Given the description of an element on the screen output the (x, y) to click on. 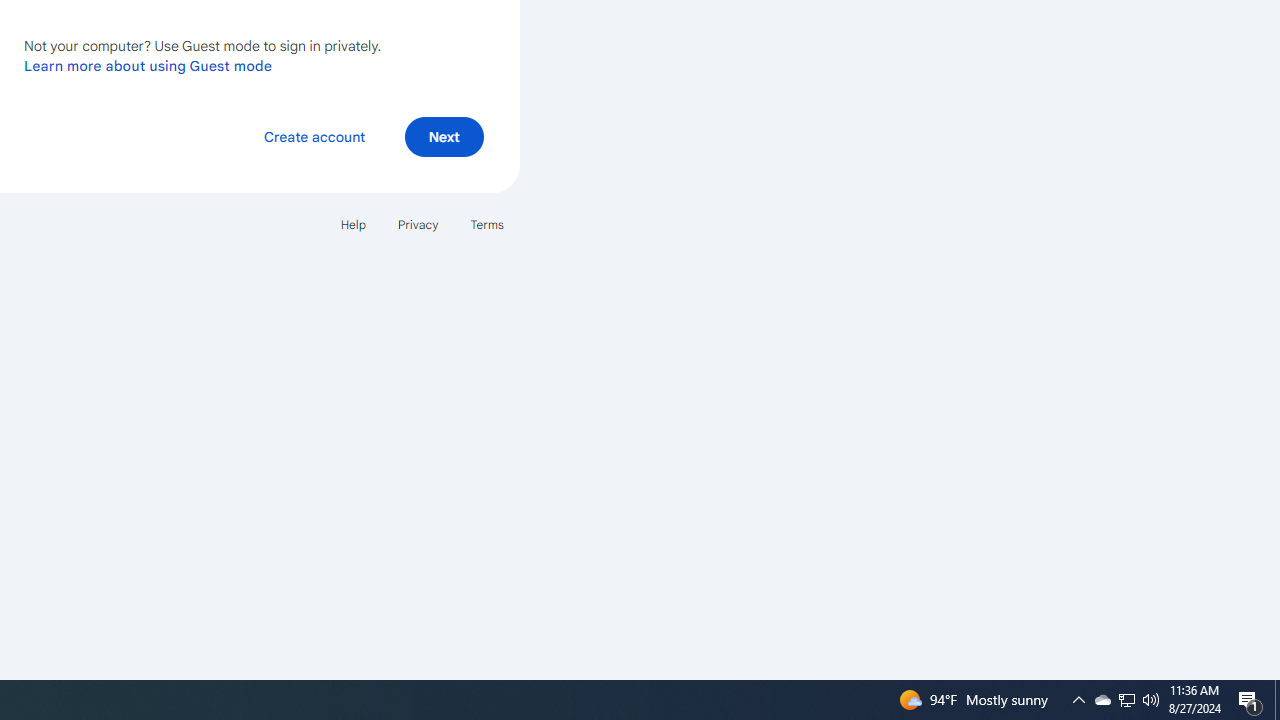
Help (352, 224)
Learn more about using Guest mode (148, 65)
Create account (314, 135)
Next (443, 135)
Privacy (417, 224)
